Given the description of an element on the screen output the (x, y) to click on. 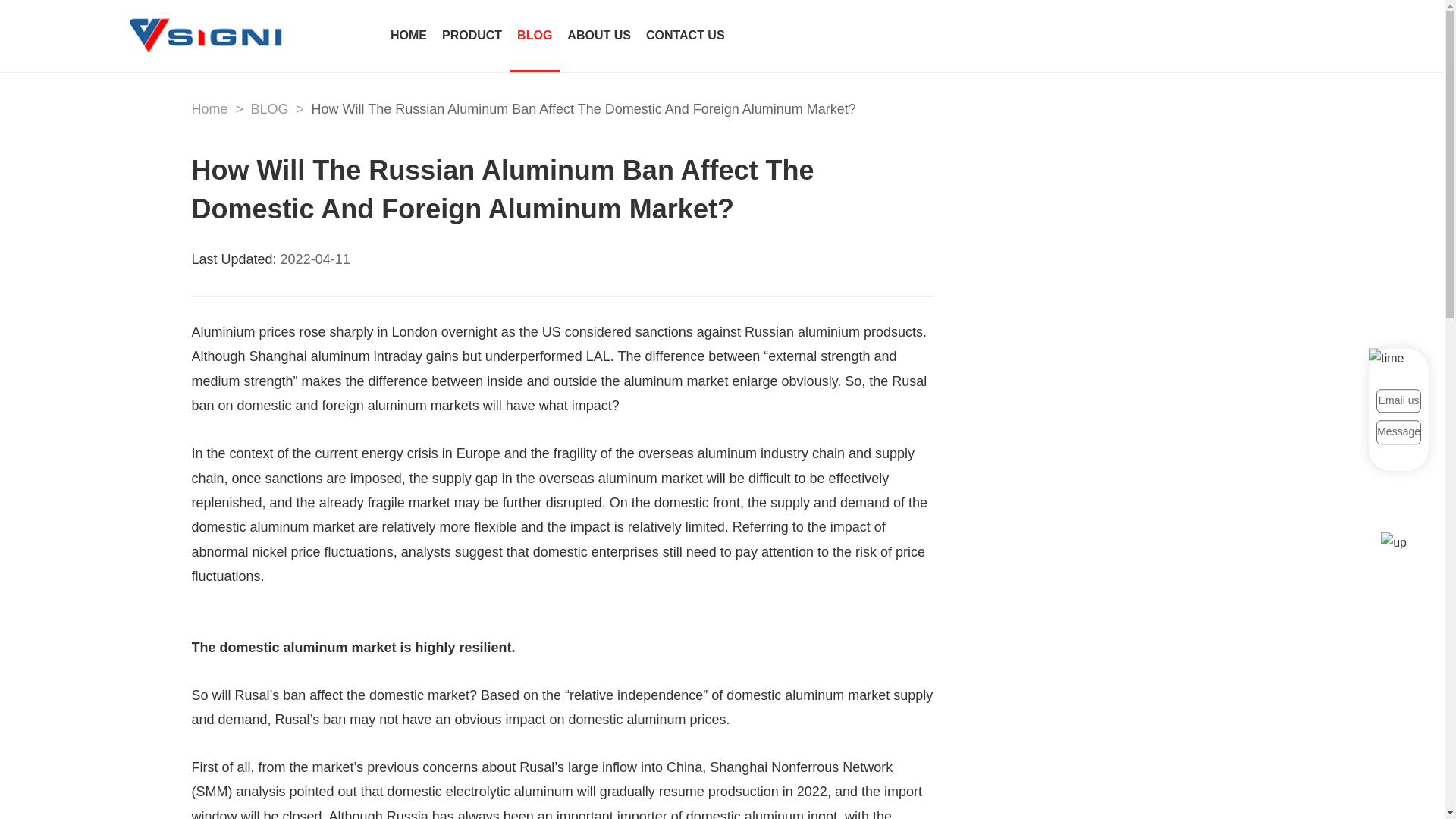
CONTACT US (685, 36)
Email us (1398, 400)
Home (208, 109)
ABOUT US (599, 36)
Message (1398, 432)
PRODUCT (471, 36)
BLOG (269, 109)
